Given the description of an element on the screen output the (x, y) to click on. 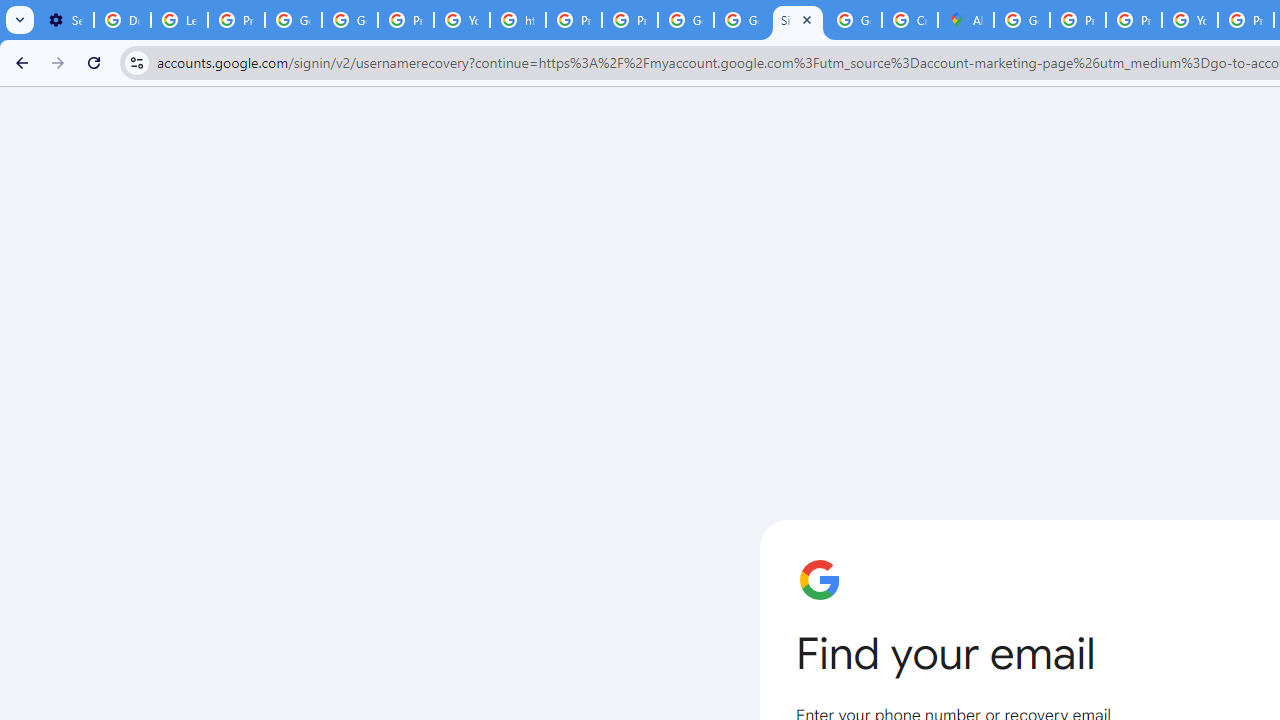
YouTube (1190, 20)
YouTube (461, 20)
Delete photos & videos - Computer - Google Photos Help (122, 20)
Google Account Help (293, 20)
https://scholar.google.com/ (518, 20)
Privacy Help Center - Policies Help (1133, 20)
Settings - On startup (65, 20)
